Given the description of an element on the screen output the (x, y) to click on. 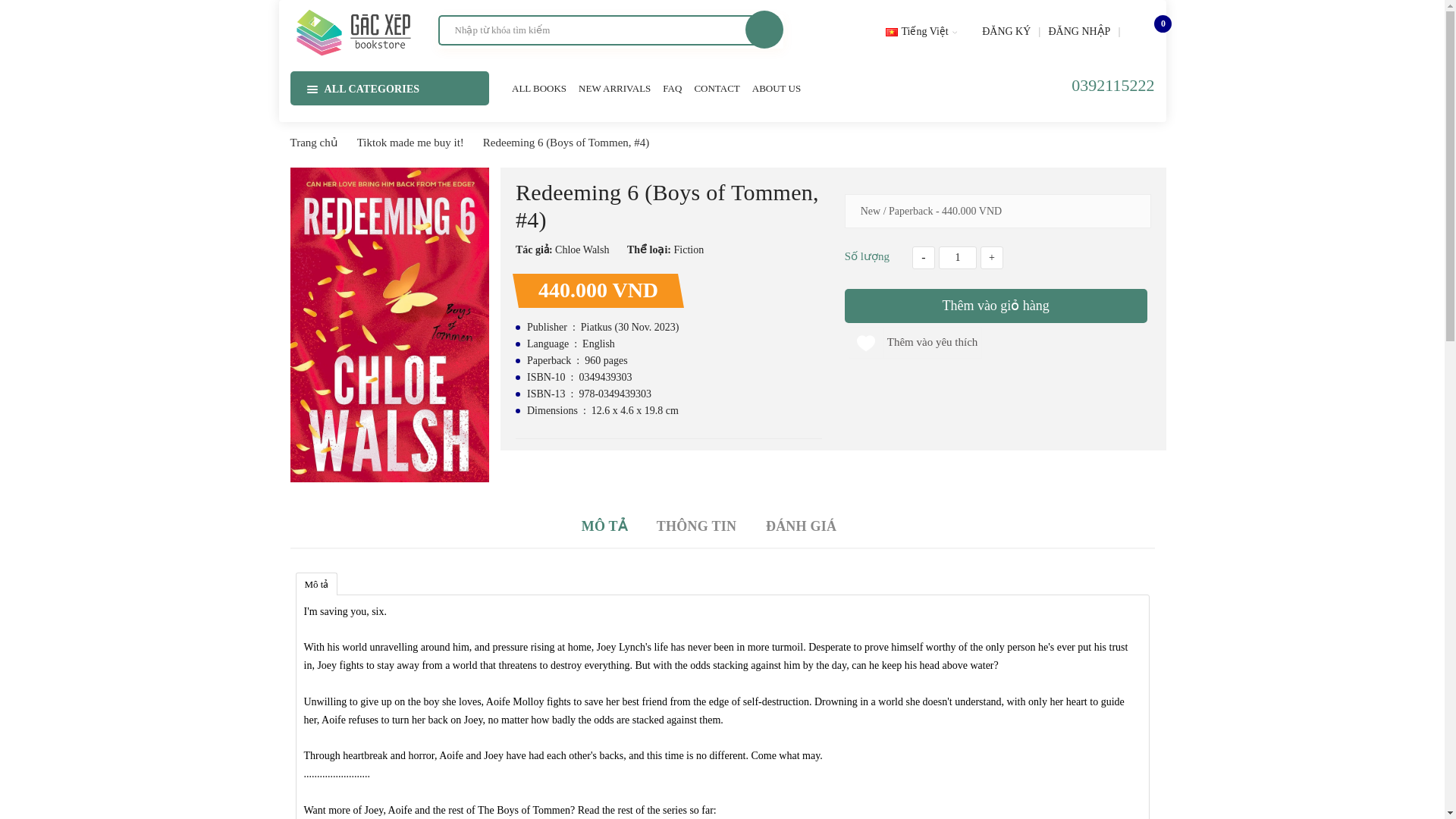
1 (957, 257)
